Given the description of an element on the screen output the (x, y) to click on. 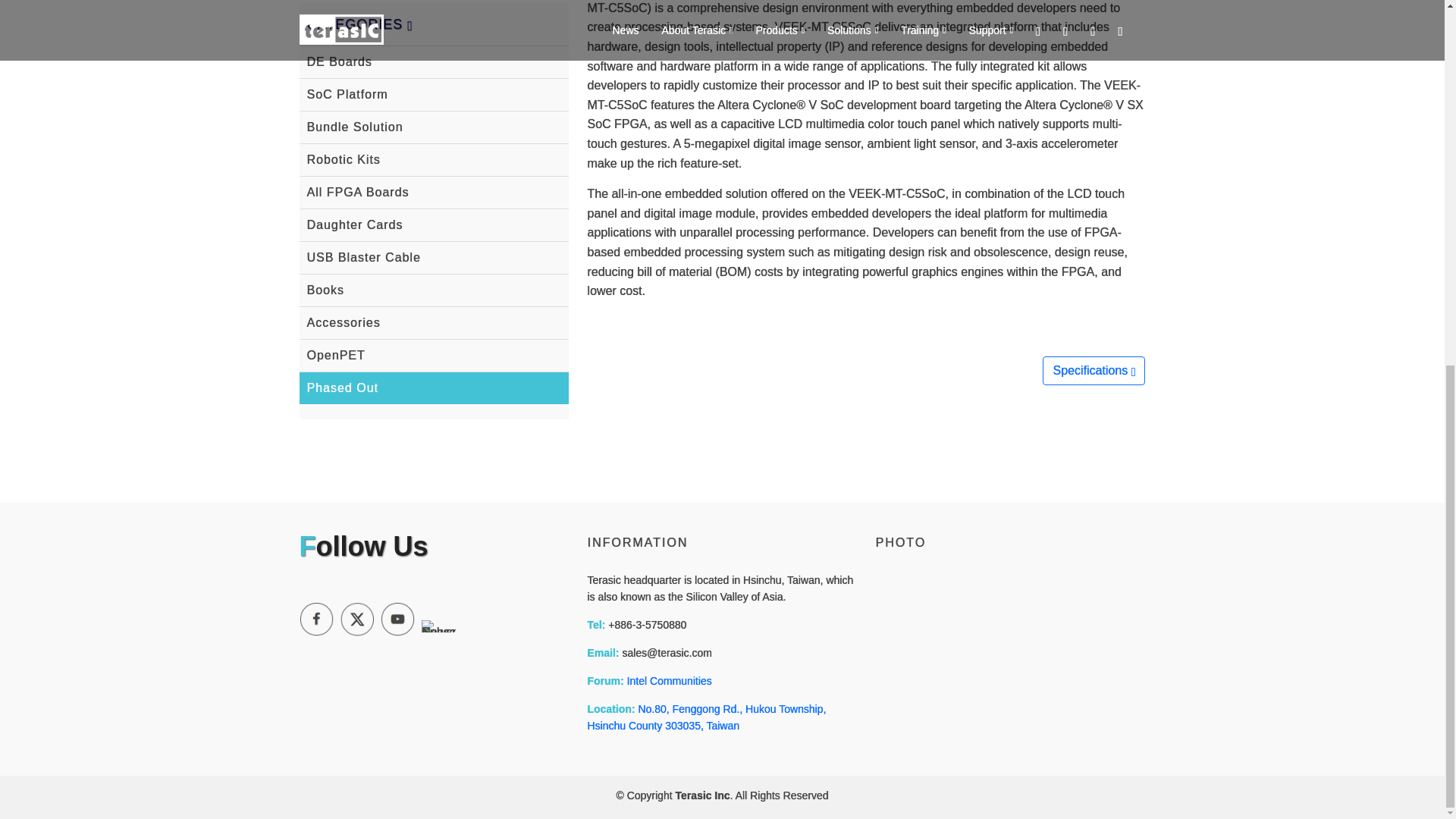
Newspaper Subscription (438, 625)
Youtube (397, 618)
Facebook (315, 618)
Twitter (356, 618)
